Given the description of an element on the screen output the (x, y) to click on. 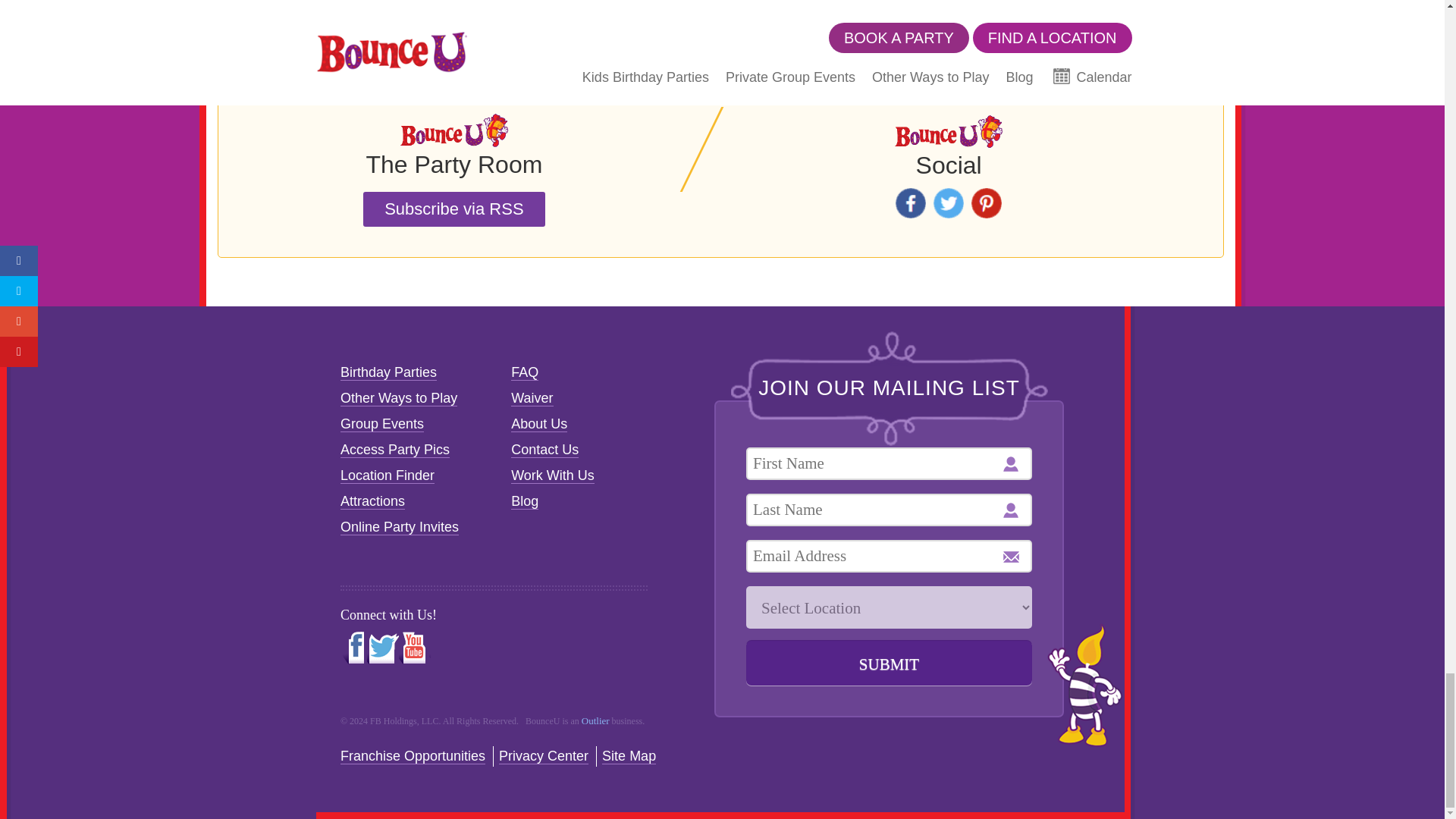
Twitter (948, 203)
Pinterest (986, 203)
Last Name (888, 509)
First Name (888, 463)
Email Address (888, 555)
Subscribe via RSS (453, 208)
Pinterest (986, 203)
Facebook (910, 203)
Twitter (948, 203)
Facebook (910, 203)
